Given the description of an element on the screen output the (x, y) to click on. 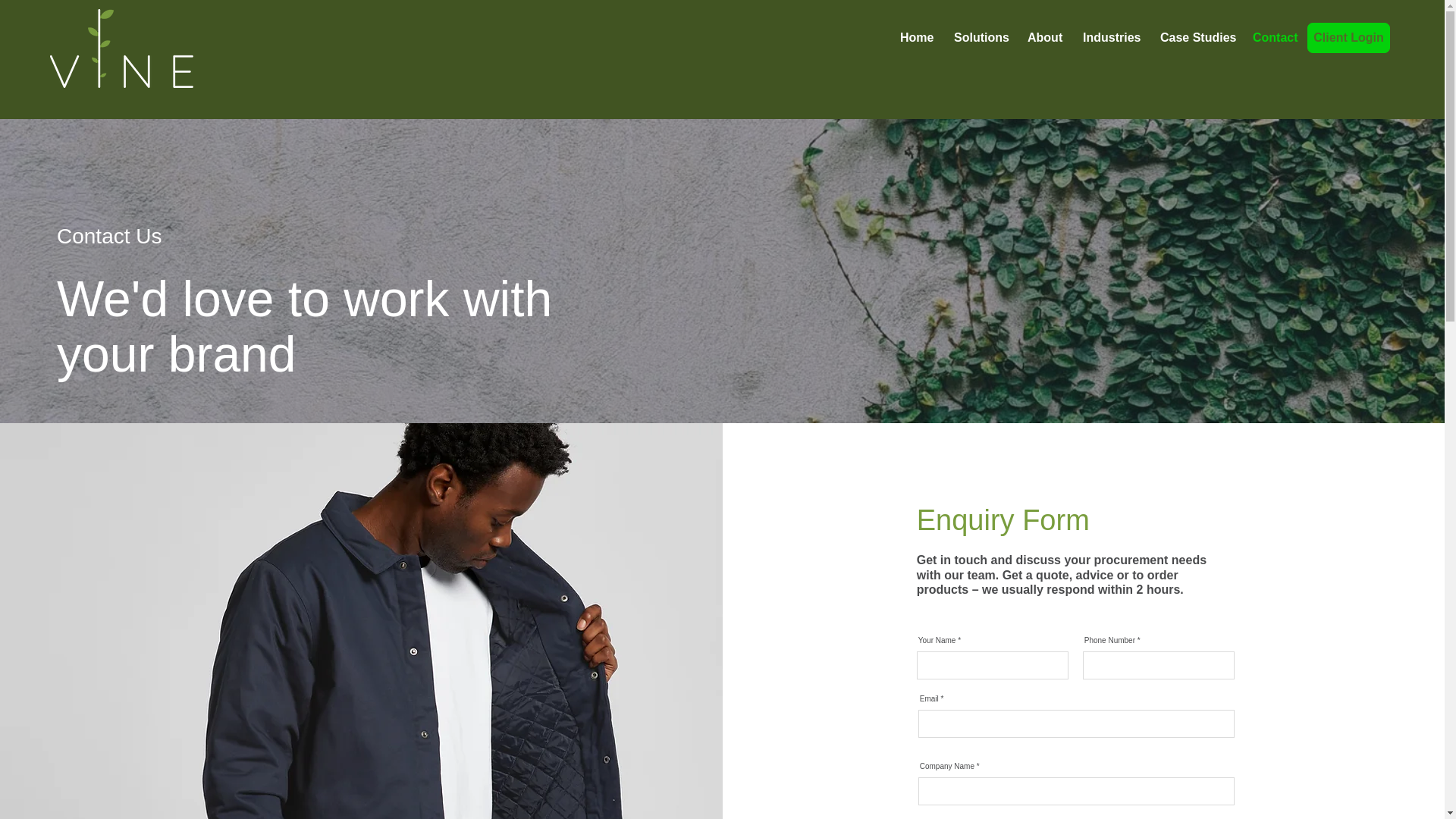
Contact (1273, 37)
Home (915, 37)
Solutions (979, 37)
Case Studies (1194, 37)
Industries (1109, 37)
About (1043, 37)
Client Login (1348, 37)
